Given the description of an element on the screen output the (x, y) to click on. 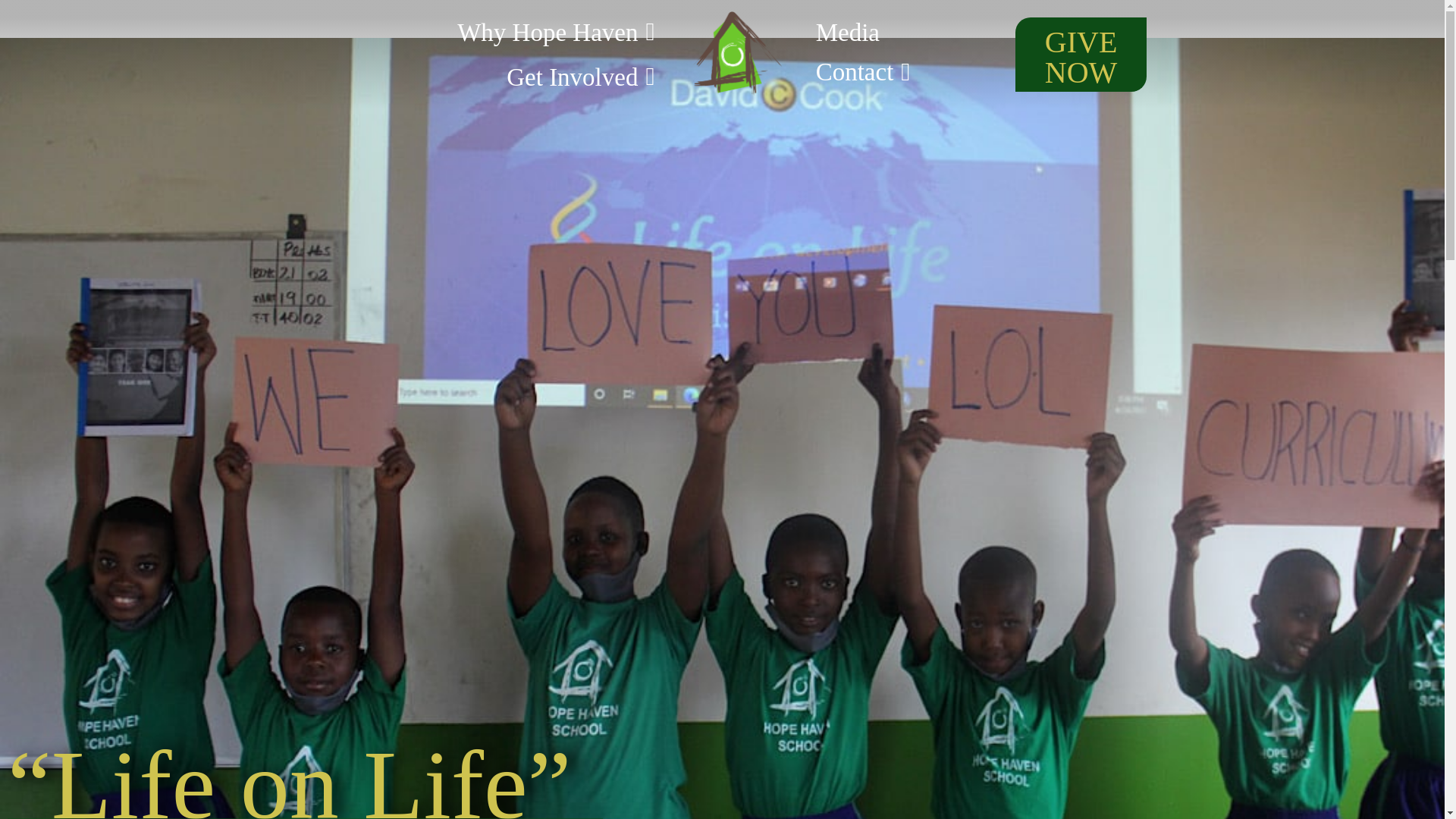
Why Hope Haven (556, 113)
Get Involved (580, 119)
